Given the description of an element on the screen output the (x, y) to click on. 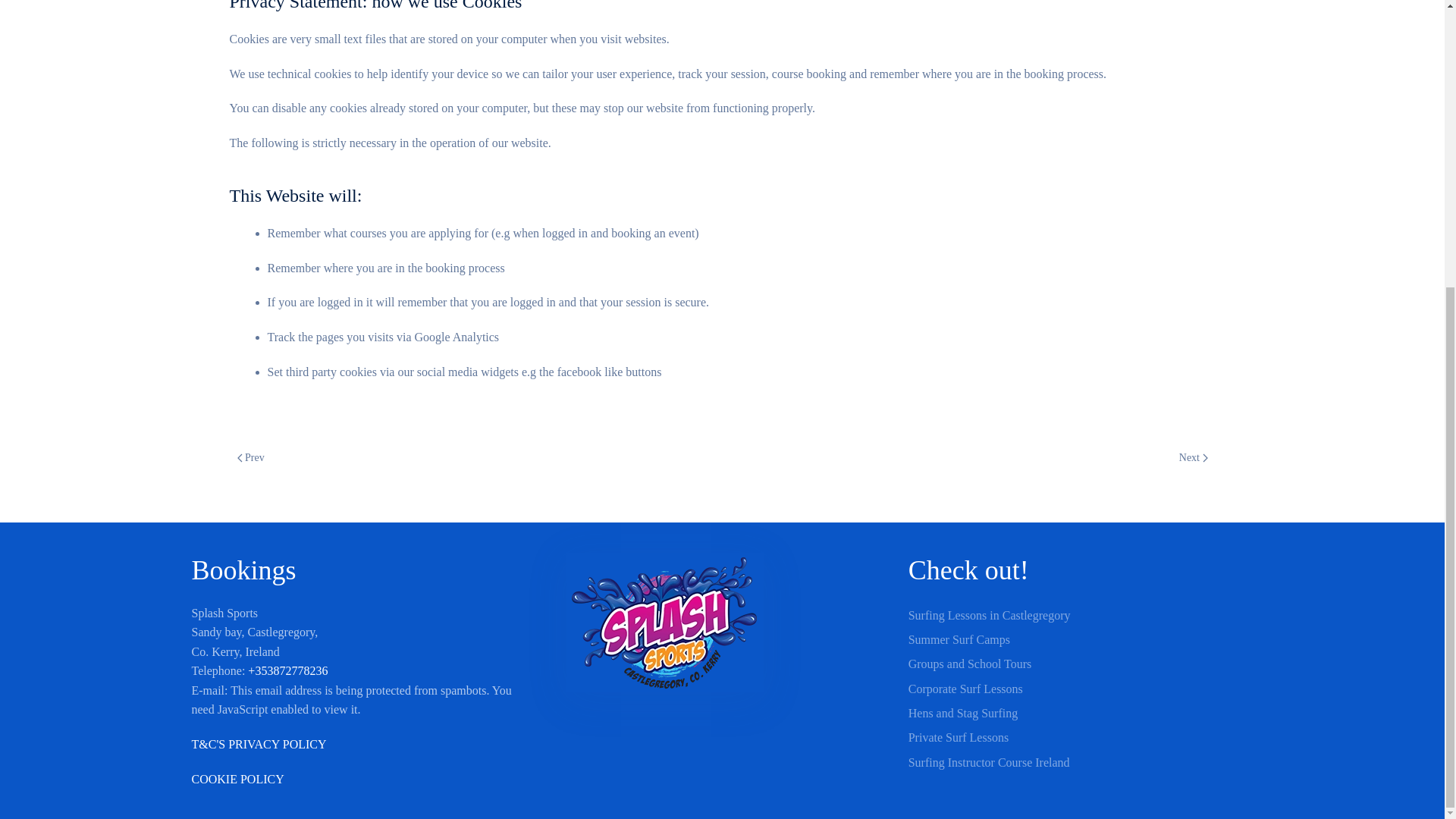
Surfing Lessons in Castlegregory (1080, 614)
Next (1193, 457)
Summer Surf Camps (1080, 639)
COOKIE POLICY (236, 779)
Prev (249, 457)
